Given the description of an element on the screen output the (x, y) to click on. 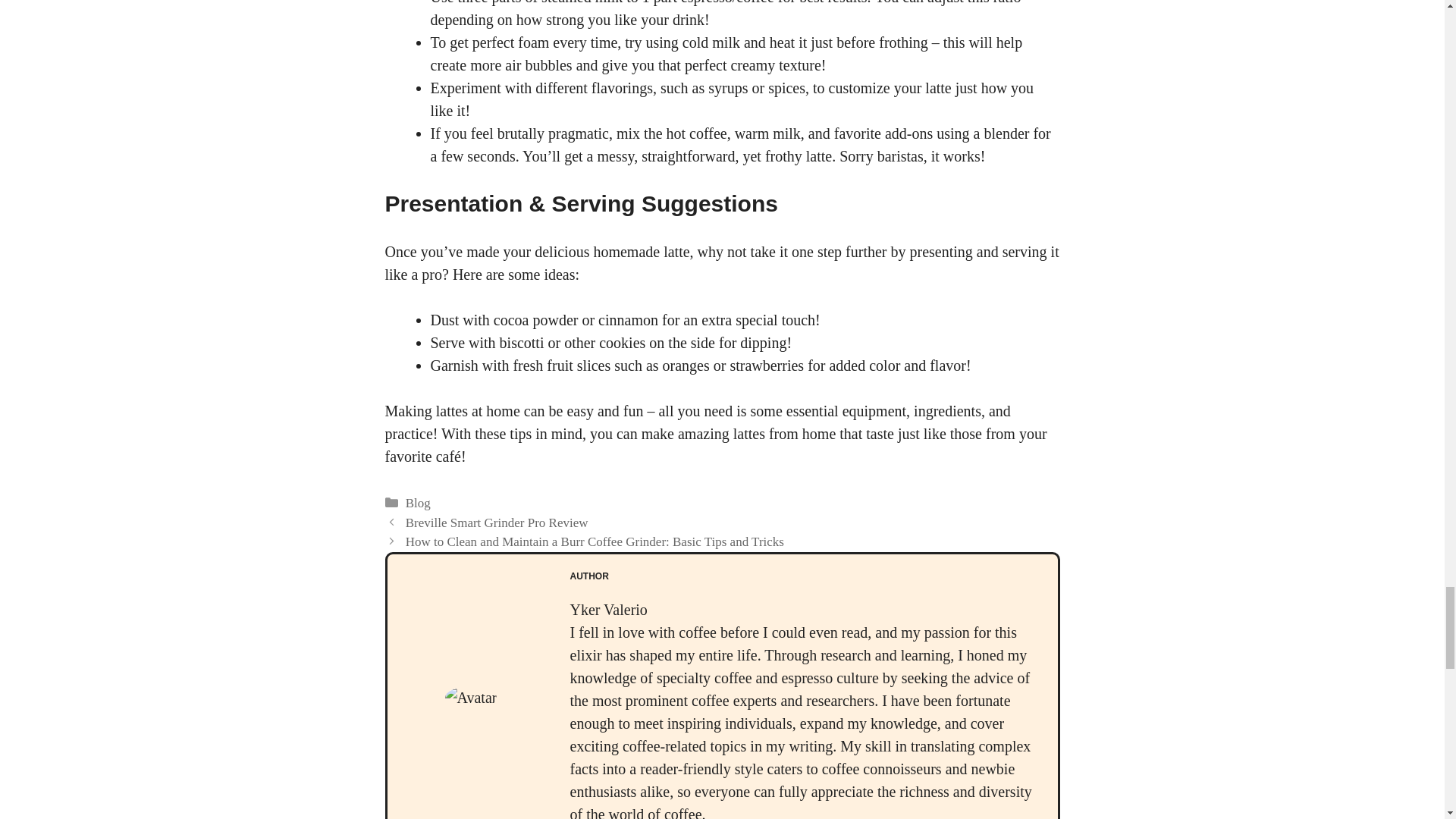
Blog (418, 503)
Breville Smart Grinder Pro Review (497, 522)
